Given the description of an element on the screen output the (x, y) to click on. 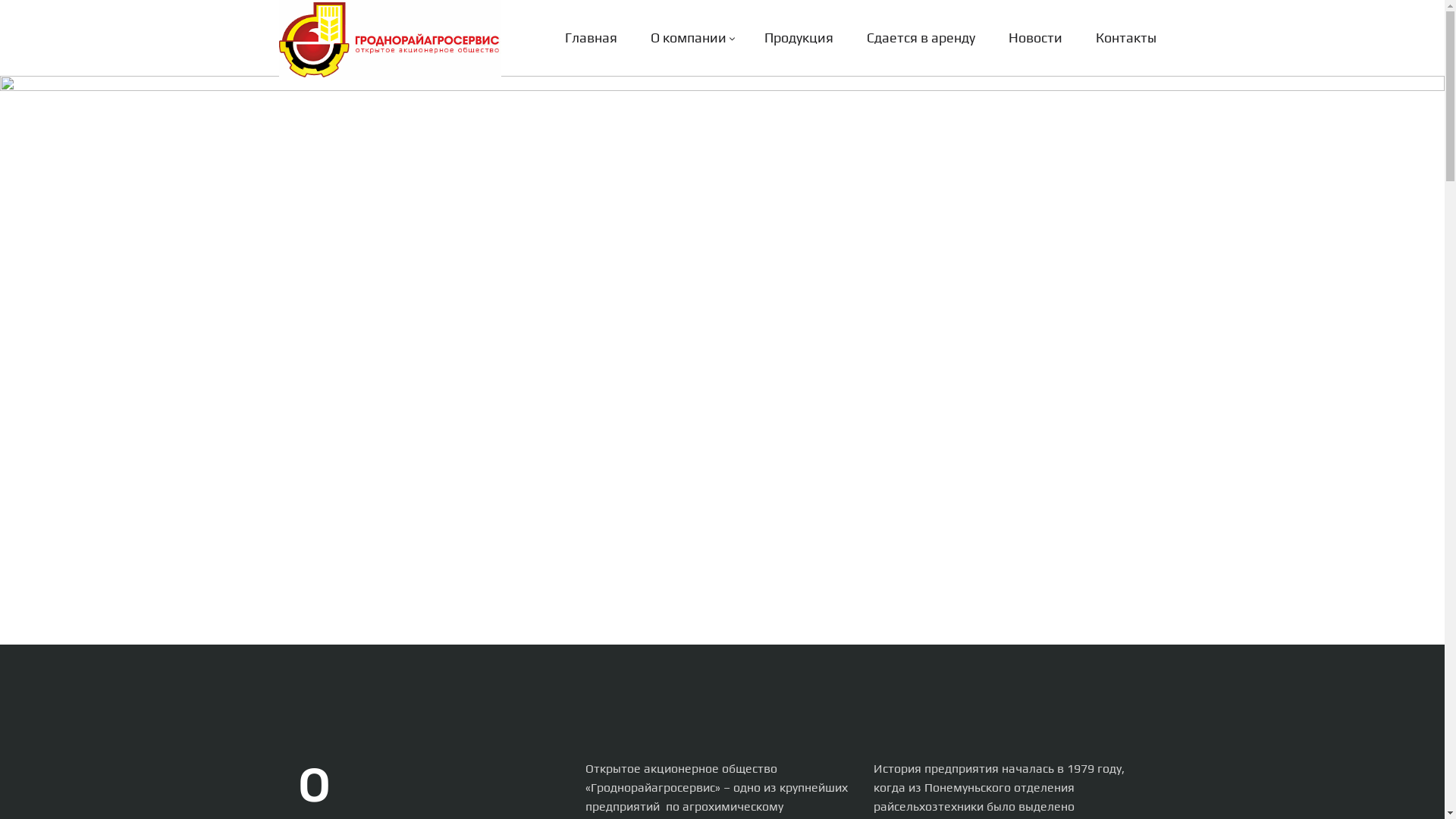
shape-top Element type: hover (722, 83)
